Given the description of an element on the screen output the (x, y) to click on. 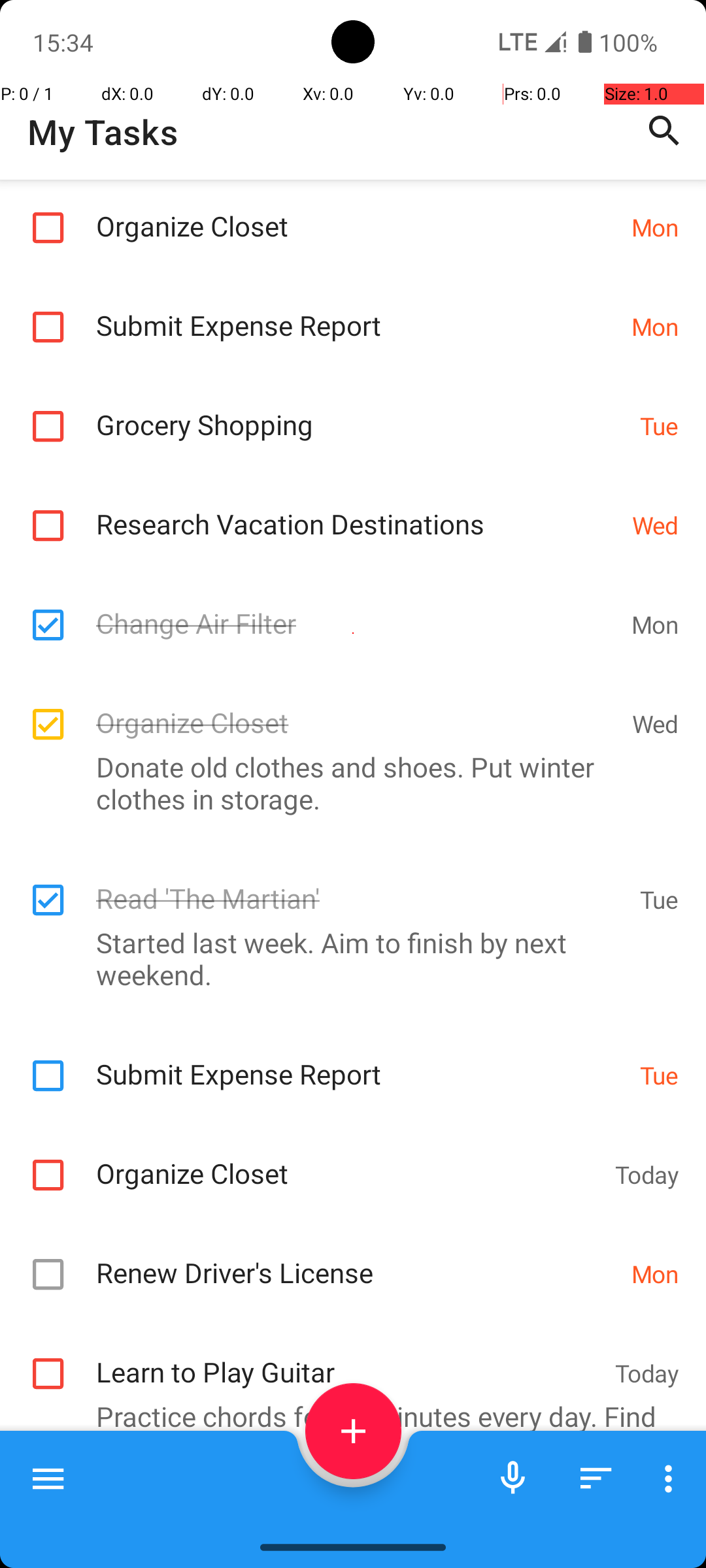
Donate old clothes and shoes. Put winter clothes in storage. Element type: android.widget.TextView (346, 782)
Started last week. Aim to finish by next weekend. Element type: android.widget.TextView (346, 958)
Practice chords for 30 minutes every day. Find online tutorials. Element type: android.widget.TextView (346, 1431)
